Given the description of an element on the screen output the (x, y) to click on. 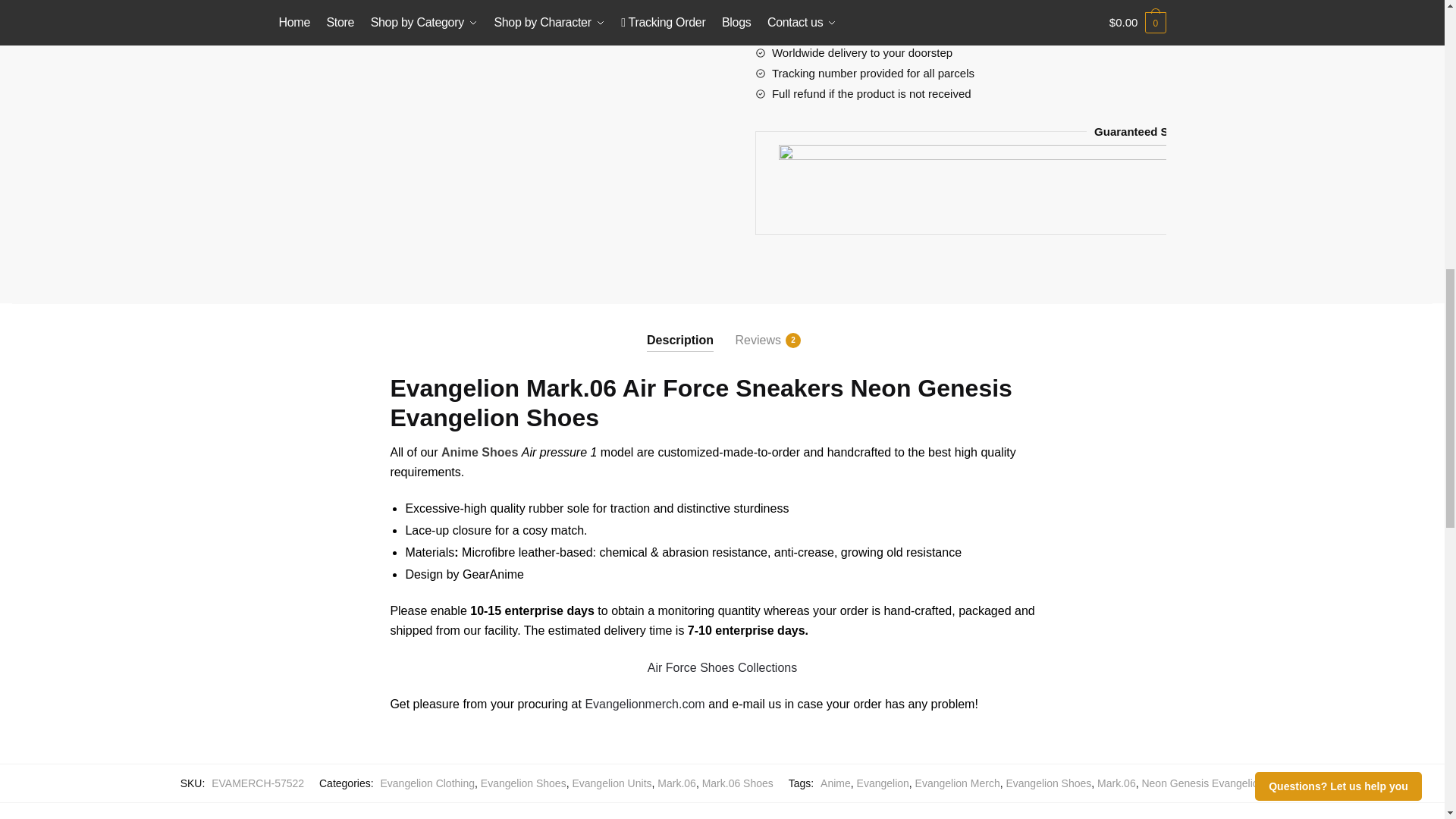
Anime Custom Shoes (479, 451)
Anime Air Force Shoes (721, 667)
